Given the description of an element on the screen output the (x, y) to click on. 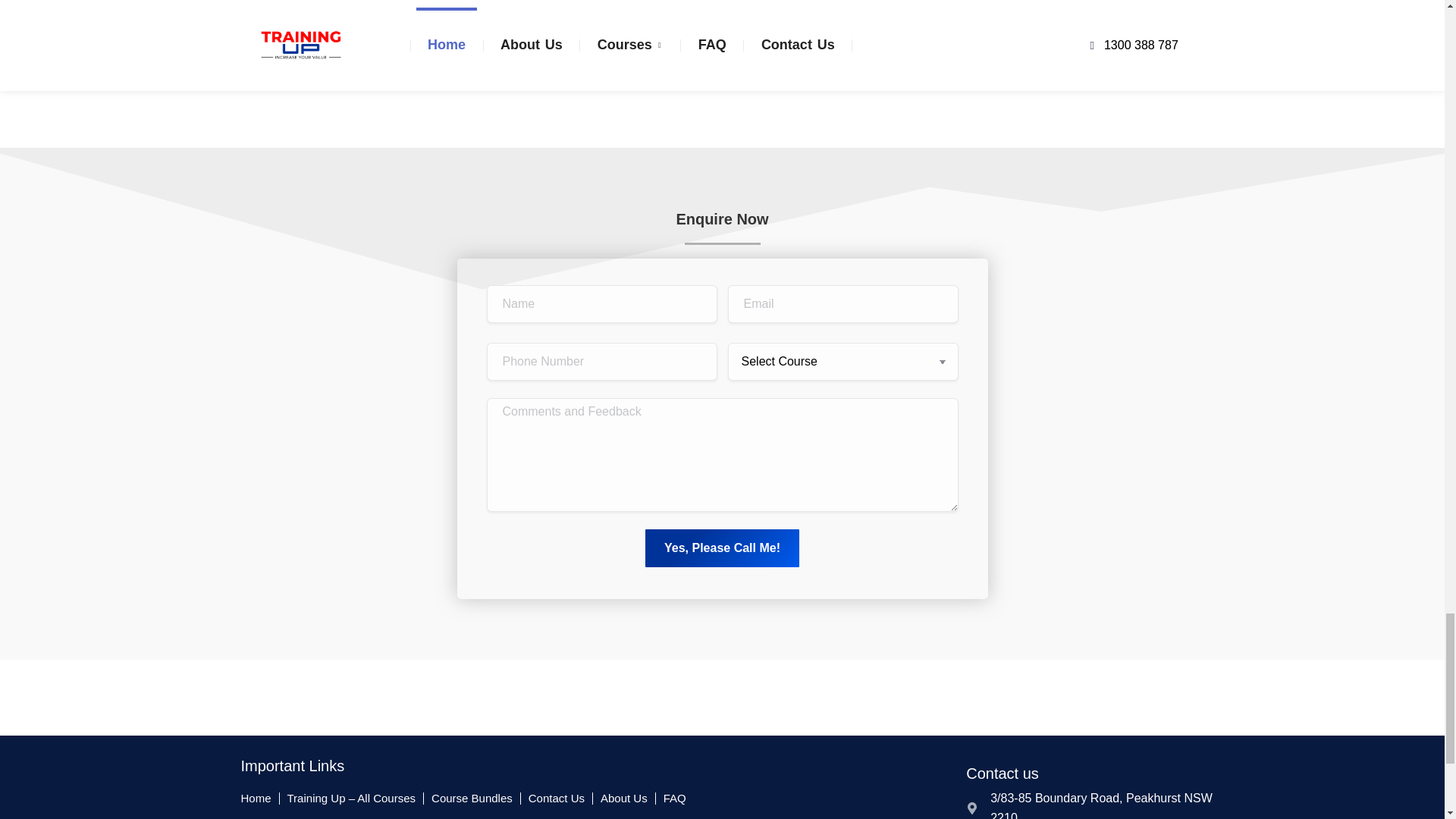
Yes, Please Call Me! (722, 548)
